Given the description of an element on the screen output the (x, y) to click on. 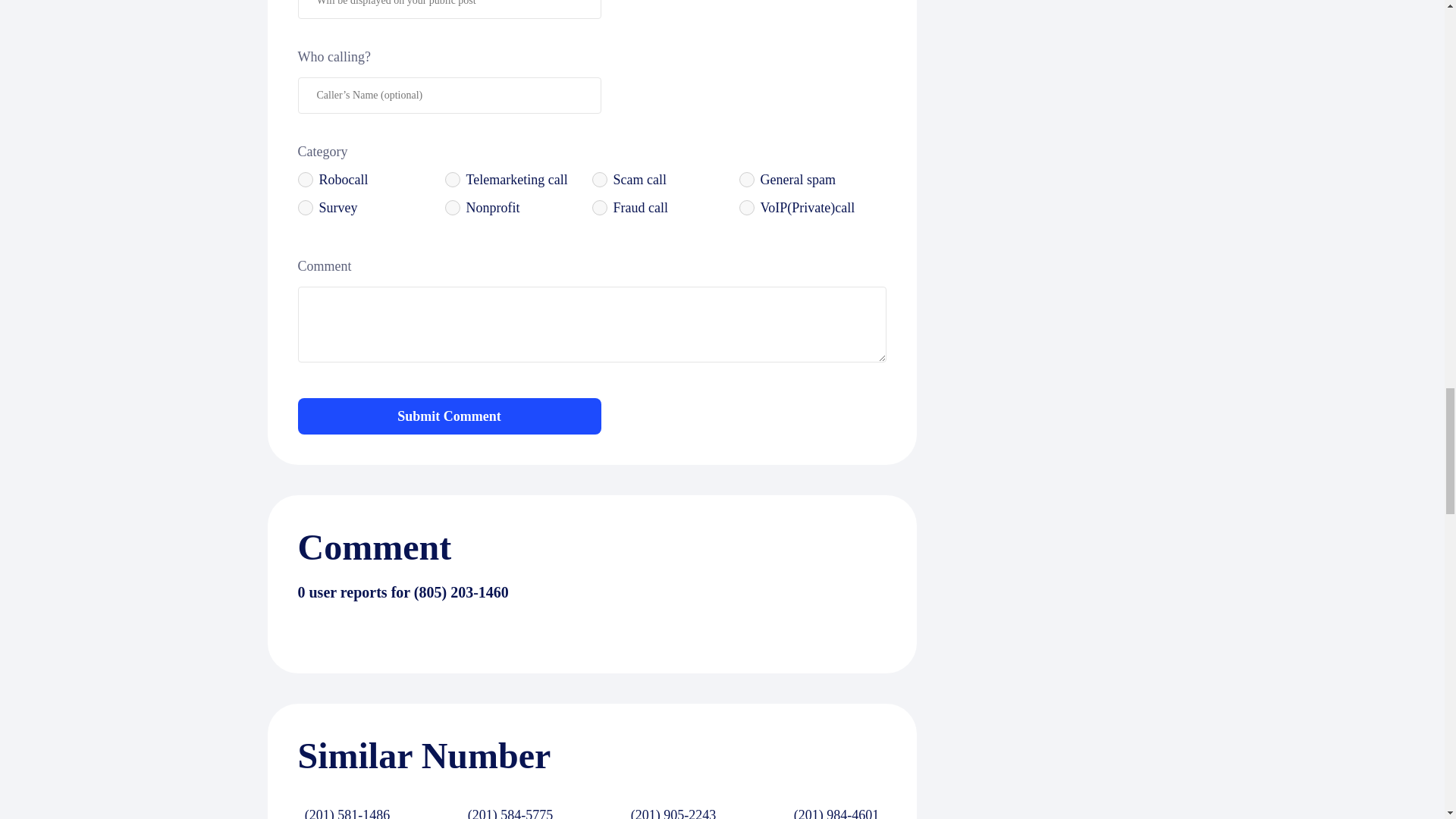
5 (305, 207)
7 (599, 207)
4 (746, 179)
3 (599, 179)
1 (305, 179)
8 (746, 207)
6 (452, 207)
2 (452, 179)
